Given the description of an element on the screen output the (x, y) to click on. 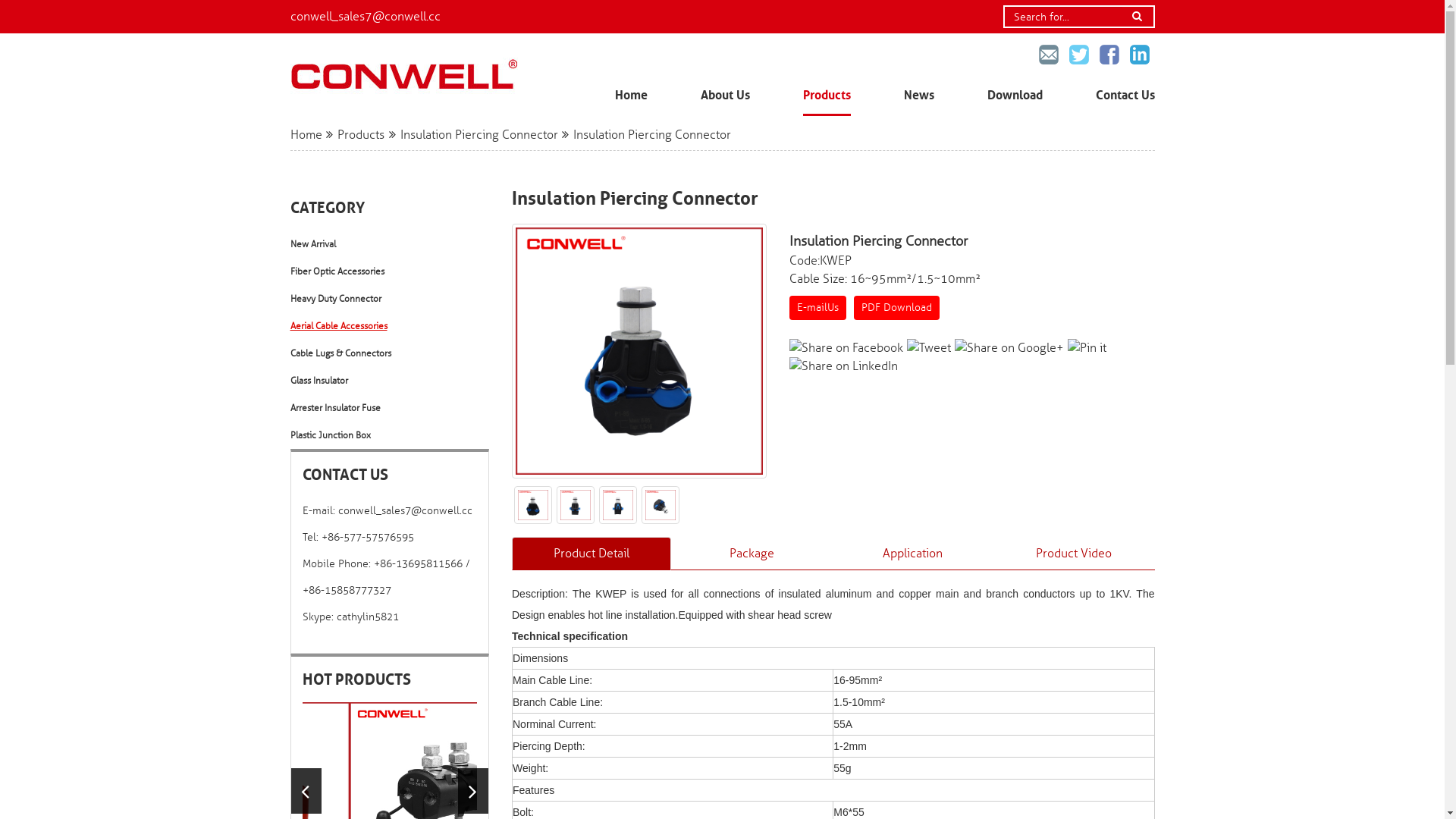
Share on Facebook Element type: hover (846, 347)
Product Detail Element type: text (591, 553)
Arrester Insulator Fuse Element type: text (389, 408)
Share on LinkedIn Element type: hover (843, 365)
About Us Element type: text (724, 95)
Insulation Piercing Connector Element type: text (479, 134)
Package Element type: text (751, 553)
News Element type: text (918, 95)
Aerial Cable Accessories Element type: text (389, 326)
Download Element type: text (1014, 95)
PDF Download Element type: text (896, 307)
Share on Google+ Element type: hover (1008, 347)
Pin it Element type: hover (1086, 347)
Fiber Optic Accessories Element type: text (389, 271)
E-mail Us Element type: text (817, 307)
Insulation Piercing Connector Element type: hover (638, 350)
Home Element type: text (305, 134)
Cable Lugs & Connectors Element type: text (389, 353)
Plastic Junction Box Element type: text (389, 435)
Tweet Element type: hover (928, 347)
Contact Us Element type: text (1124, 95)
Glass Insulator Element type: text (389, 380)
Products Element type: text (826, 95)
New Arrival Element type: text (389, 244)
Product Video Element type: text (1073, 553)
Application Element type: text (912, 553)
Home Element type: text (630, 95)
Heavy Duty Connector Element type: text (389, 298)
conwell_sales7@conwell.cc Element type: text (364, 16)
conwell_sales7@conwell.cc Element type: text (405, 510)
Products Element type: text (360, 134)
